Given the description of an element on the screen output the (x, y) to click on. 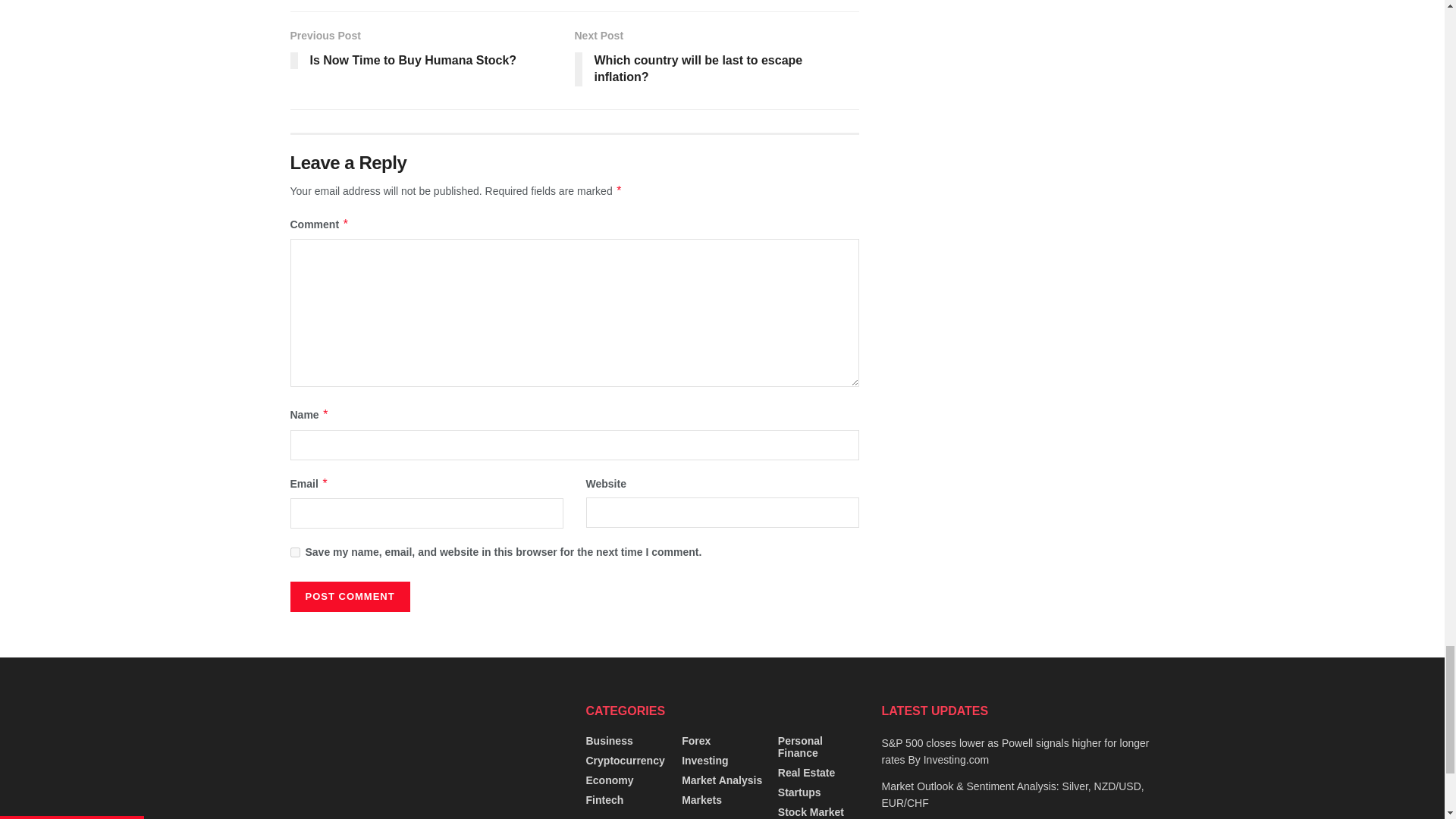
yes (294, 552)
Post Comment (349, 596)
